Given the description of an element on the screen output the (x, y) to click on. 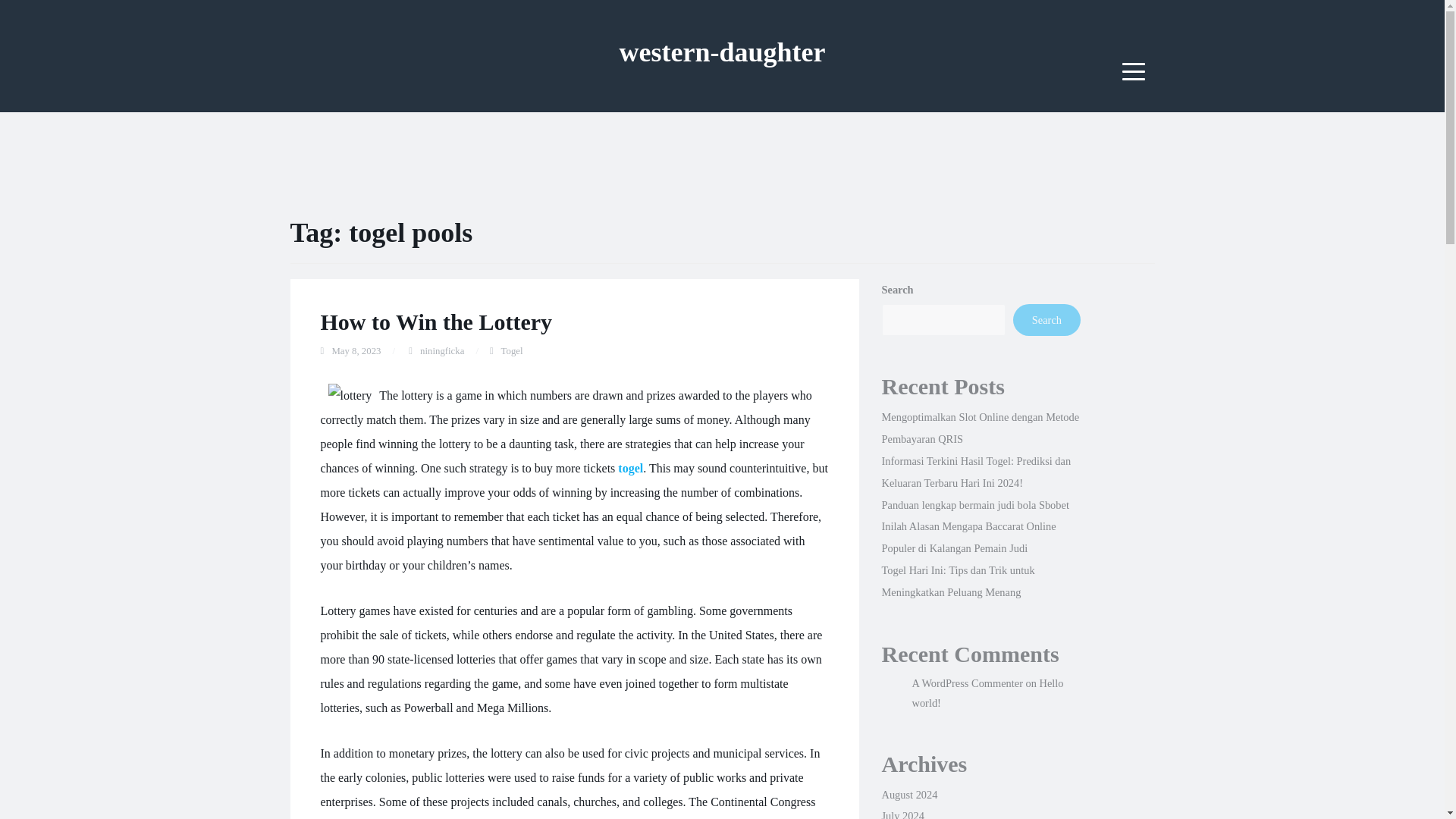
May 8, 2023 (355, 350)
niningficka (442, 350)
western-daughter (721, 51)
How to Win the Lottery (435, 321)
Togel (511, 350)
togel (630, 468)
Menu (1133, 71)
